Given the description of an element on the screen output the (x, y) to click on. 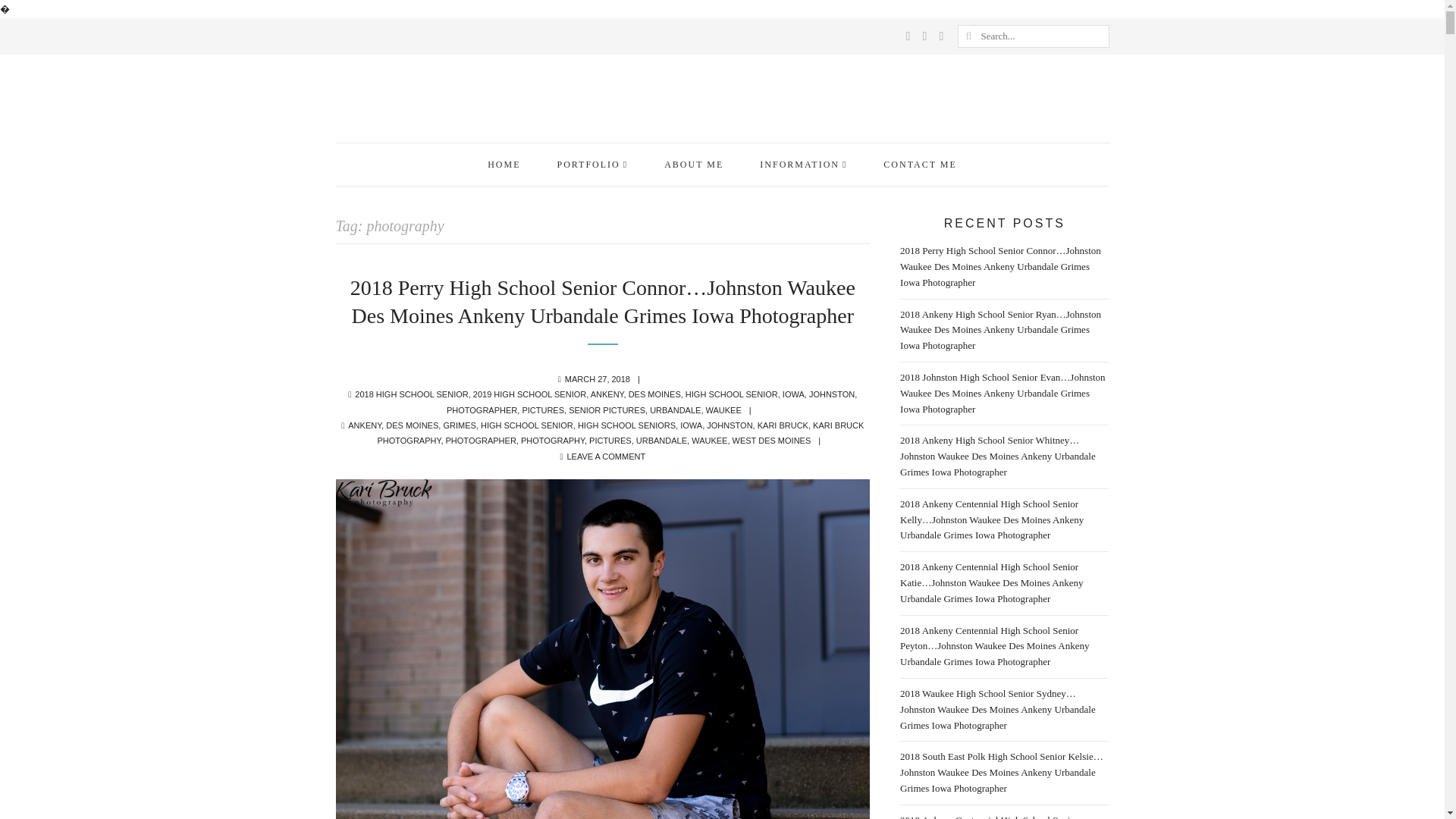
CONTACT ME (919, 164)
JOHNSTON (831, 393)
PORTFOLIO (592, 164)
2018 HIGH SCHOOL SENIOR (411, 393)
HOME (503, 164)
DES MOINES (654, 393)
MARCH 27, 2018 (597, 379)
PHOTOGRAPHER (481, 409)
2019 HIGH SCHOOL SENIOR (529, 393)
Go (967, 36)
IOWA (794, 393)
INFORMATION (802, 164)
HIGH SCHOOL SENIOR (731, 393)
ABOUT ME (693, 164)
ANKENY (607, 393)
